Given the description of an element on the screen output the (x, y) to click on. 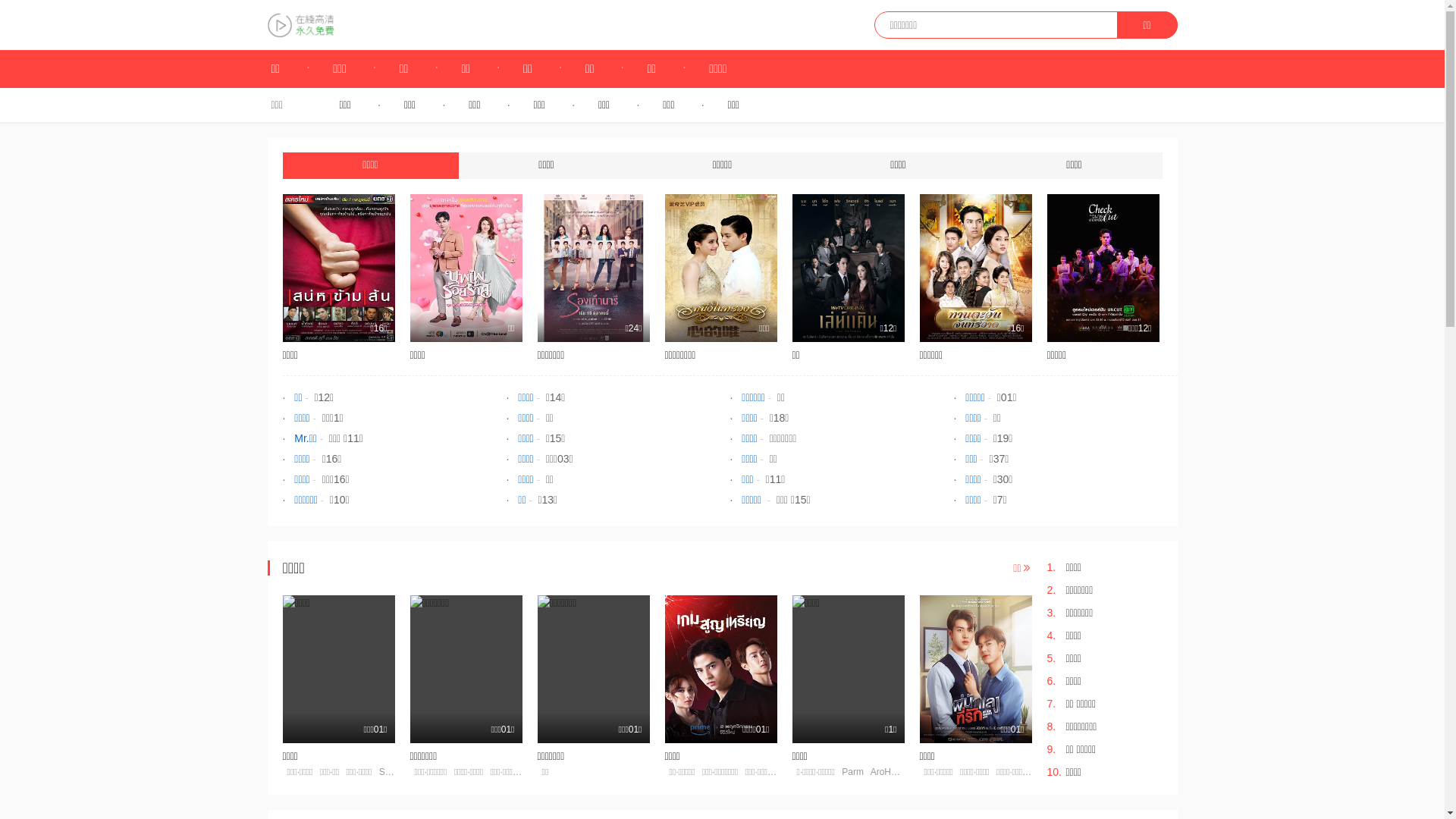
Aun Element type: text (910, 771)
Parm Element type: text (852, 771)
AroHa Element type: text (883, 771)
Sailub Element type: text (391, 771)
